Given the description of an element on the screen output the (x, y) to click on. 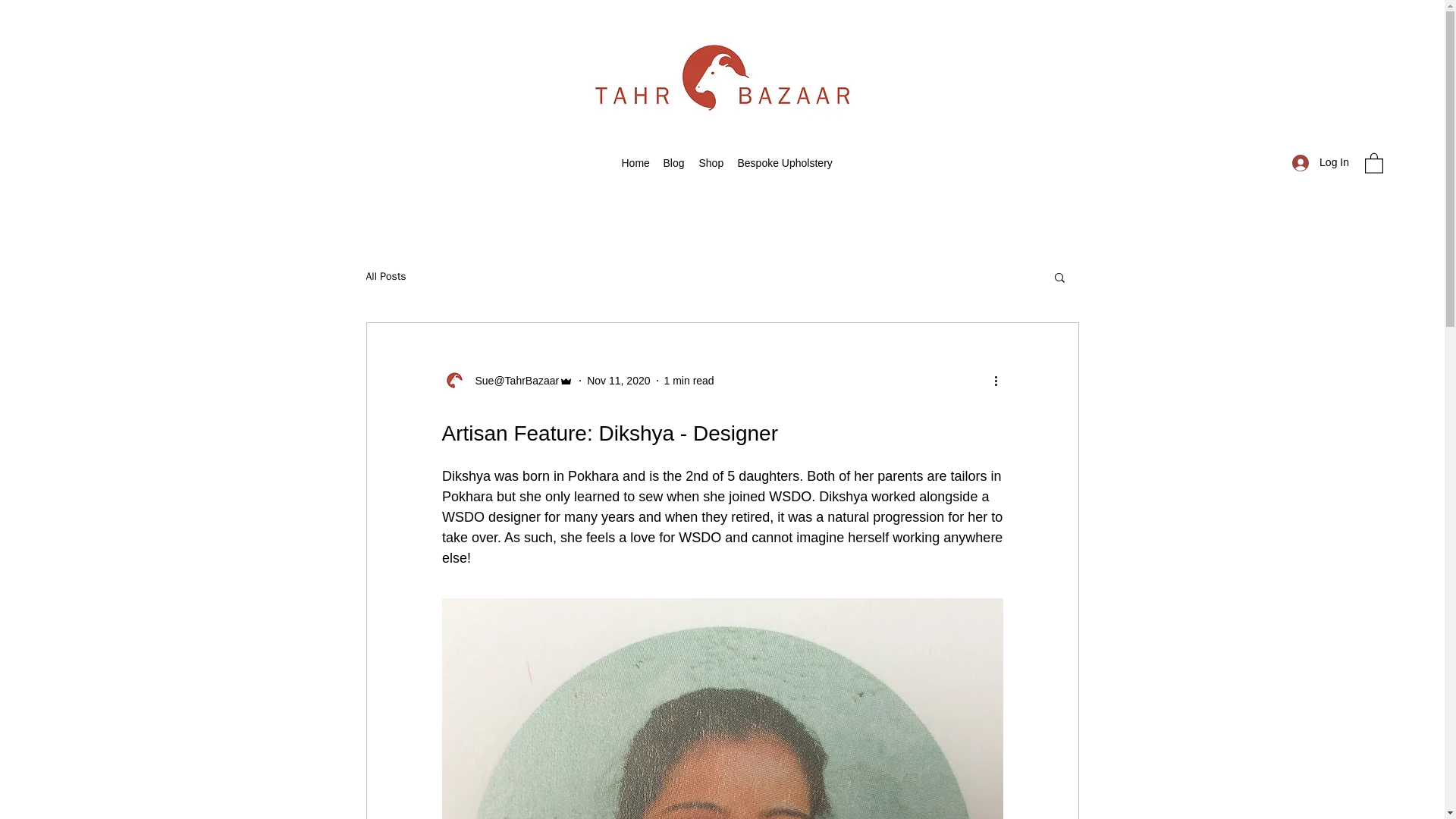
Blog (672, 162)
1 min read (688, 380)
All Posts (385, 276)
Nov 11, 2020 (617, 380)
Shop (710, 162)
Home (635, 162)
Bespoke Upholstery (779, 162)
Log In (1320, 162)
